Given the description of an element on the screen output the (x, y) to click on. 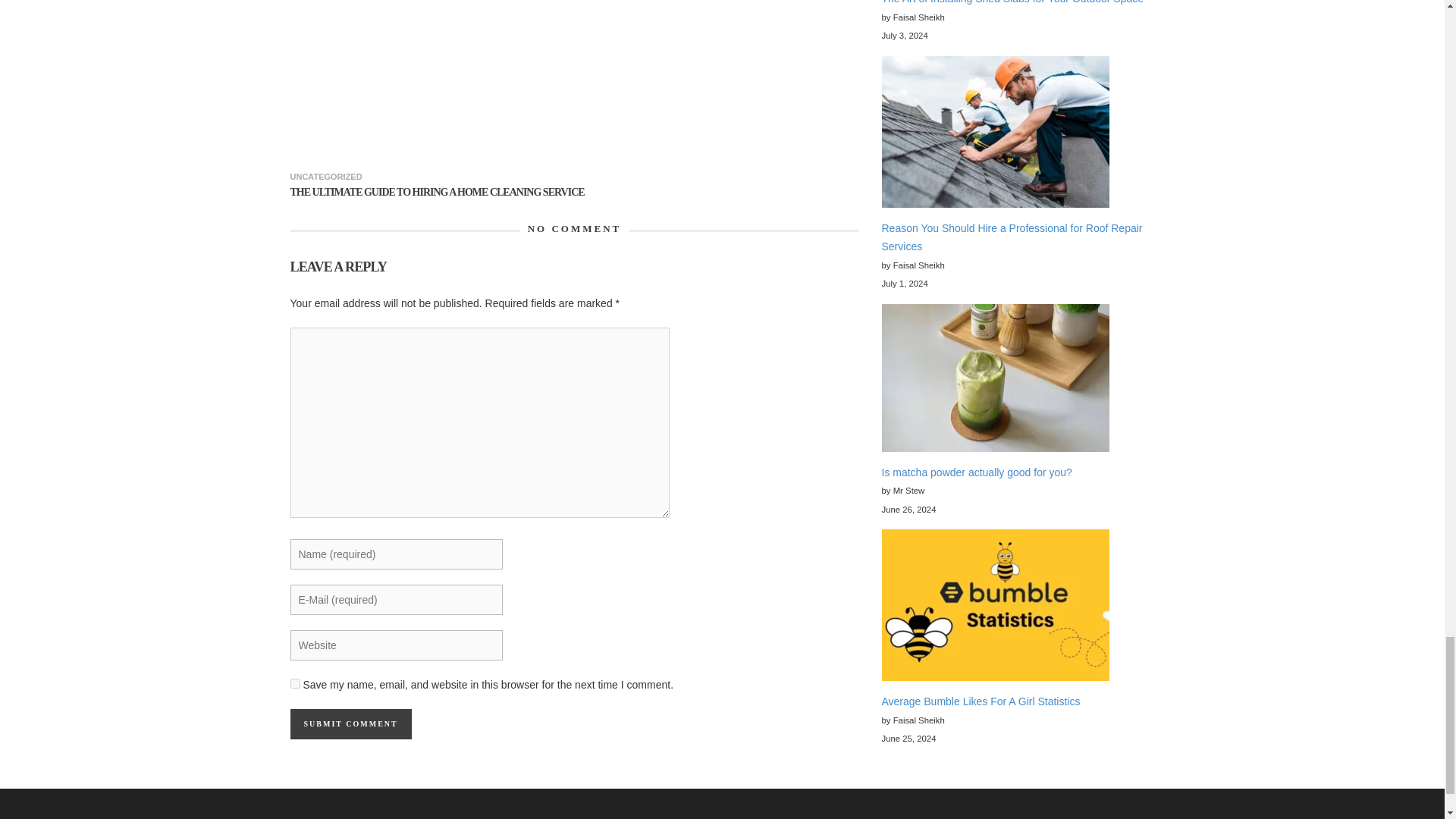
Submit comment (349, 724)
yes (294, 683)
